Given the description of an element on the screen output the (x, y) to click on. 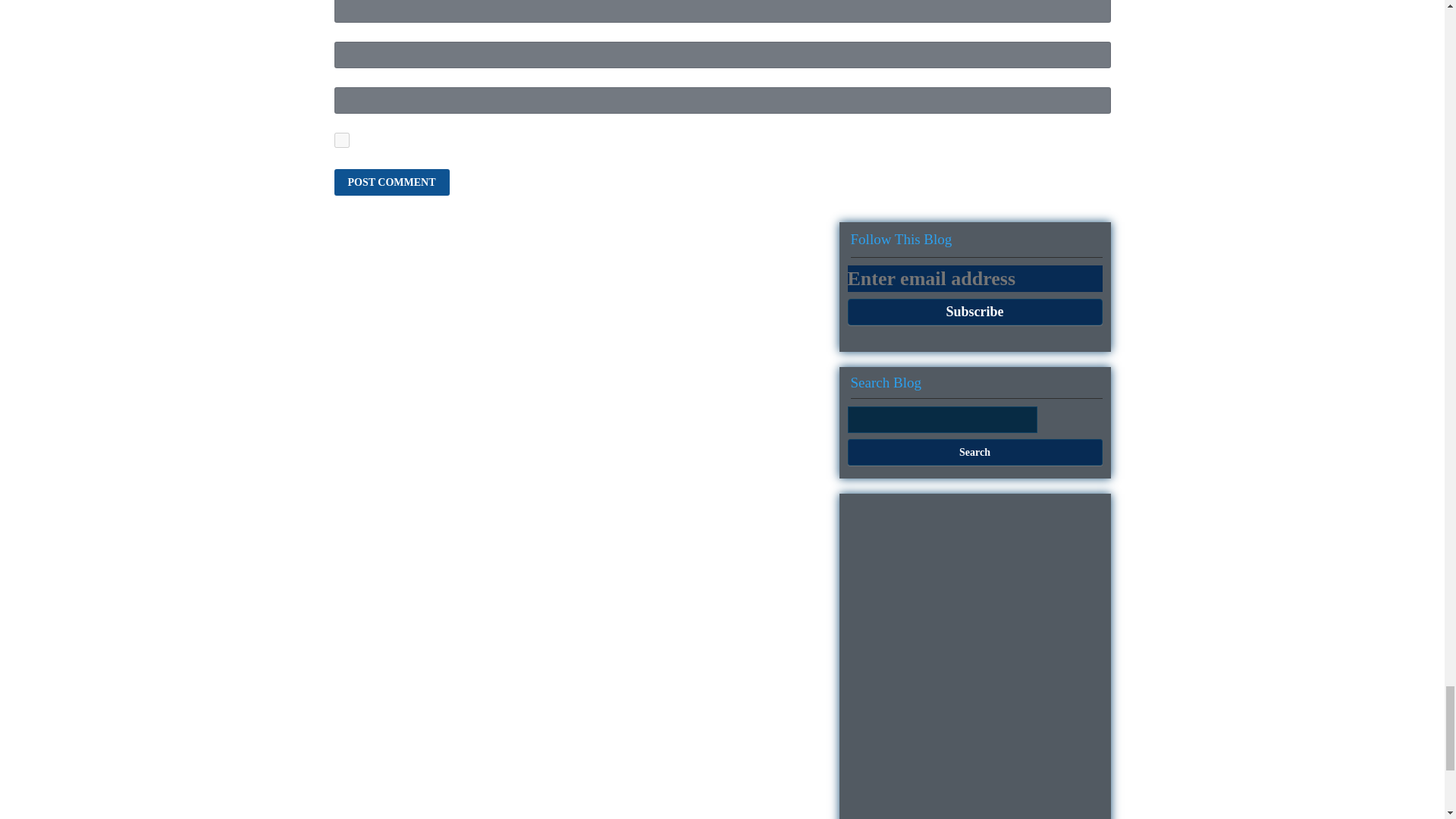
Post Comment (390, 181)
Search (974, 452)
1 (341, 140)
Subscribe (974, 311)
